Given the description of an element on the screen output the (x, y) to click on. 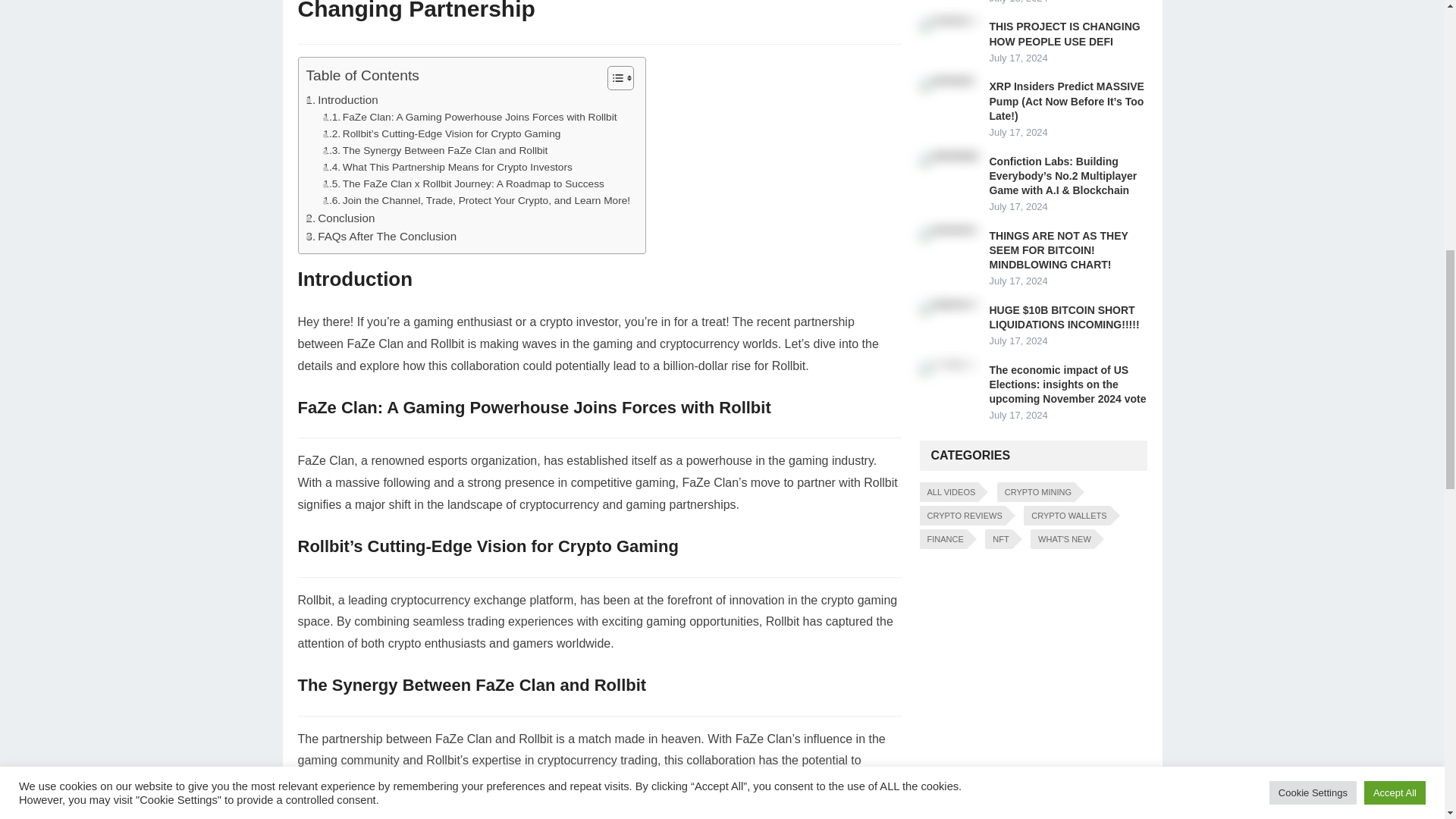
The FaZe Clan x Rollbit Journey: A Roadmap to Success (463, 184)
Introduction (341, 99)
The FaZe Clan x Rollbit Journey: A Roadmap to Success (463, 184)
Conclusion (340, 218)
What This Partnership Means for Crypto Investors (447, 167)
Introduction (341, 99)
The Synergy Between FaZe Clan and Rollbit (435, 150)
What This Partnership Means for Crypto Investors (447, 167)
